Given the description of an element on the screen output the (x, y) to click on. 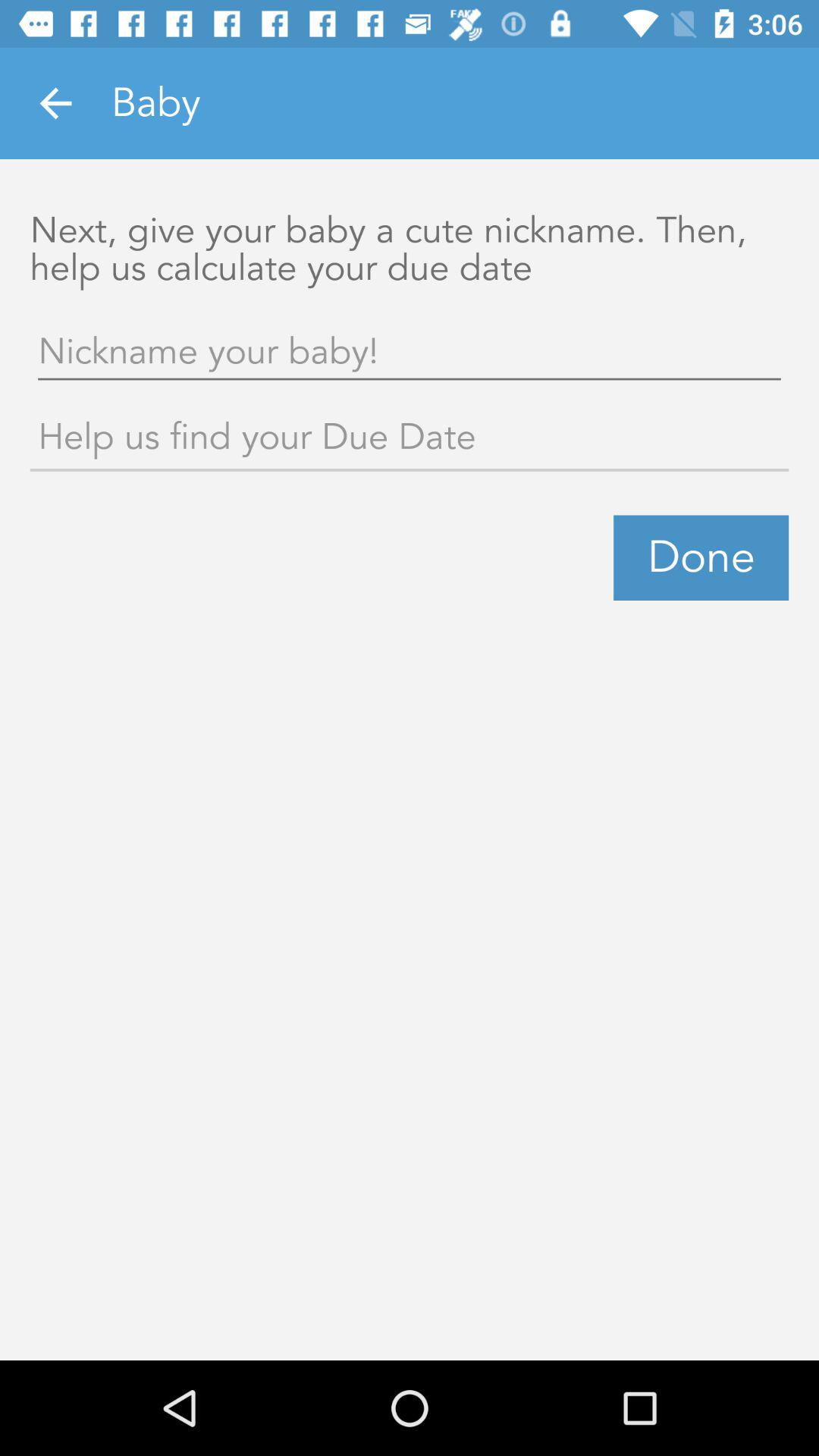
help for finding due date (409, 440)
